Given the description of an element on the screen output the (x, y) to click on. 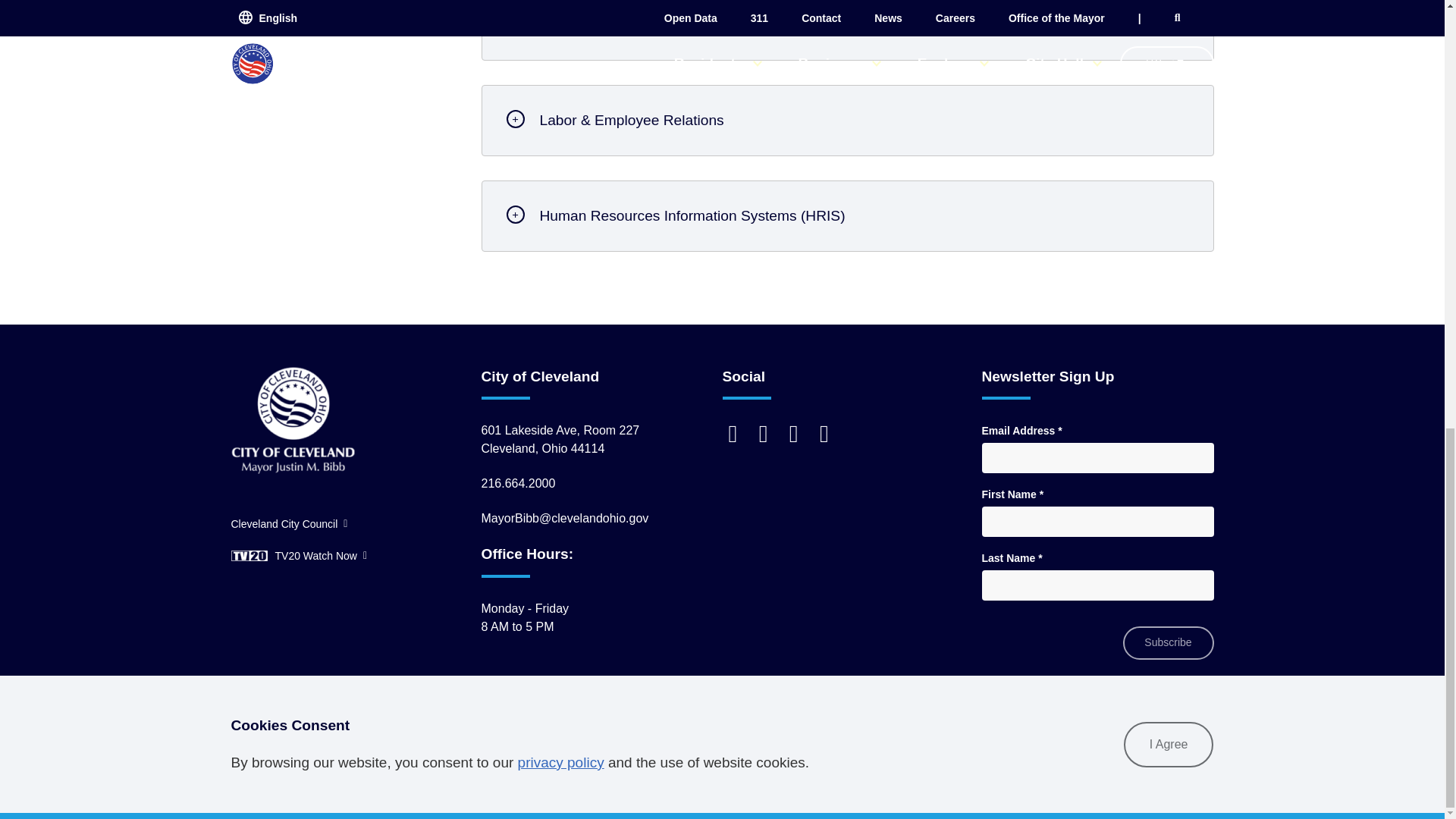
Subscribe (1167, 643)
